Given the description of an element on the screen output the (x, y) to click on. 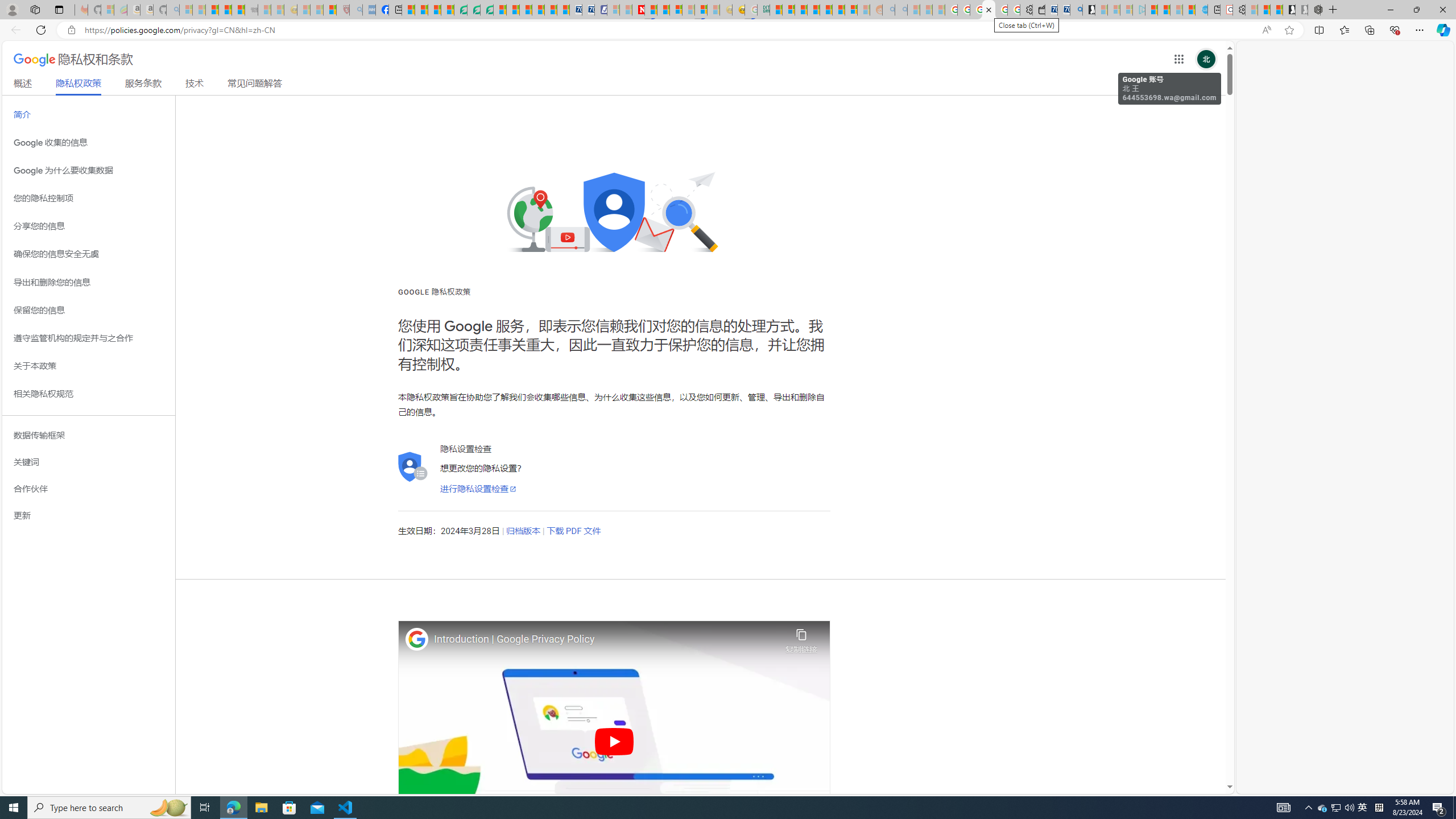
Kinda Frugal - MSN (838, 9)
